Given the description of an element on the screen output the (x, y) to click on. 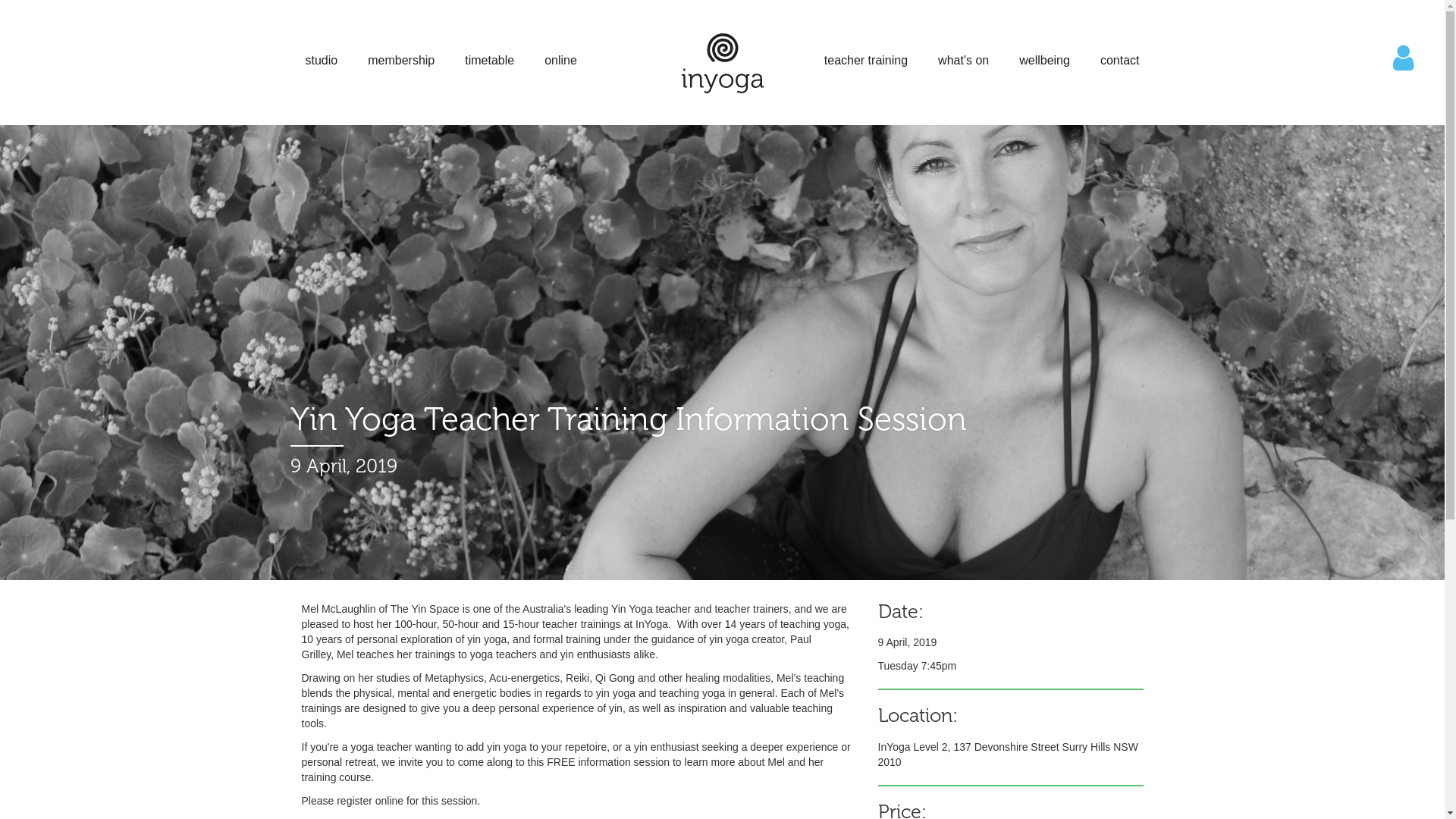
timetable Element type: text (489, 60)
what's on Element type: text (963, 60)
membership Element type: text (400, 60)
contact Element type: text (1119, 60)
online Element type: text (560, 60)
studio Element type: text (320, 60)
teacher training Element type: text (865, 60)
wellbeing Element type: text (1044, 60)
